Given the description of an element on the screen output the (x, y) to click on. 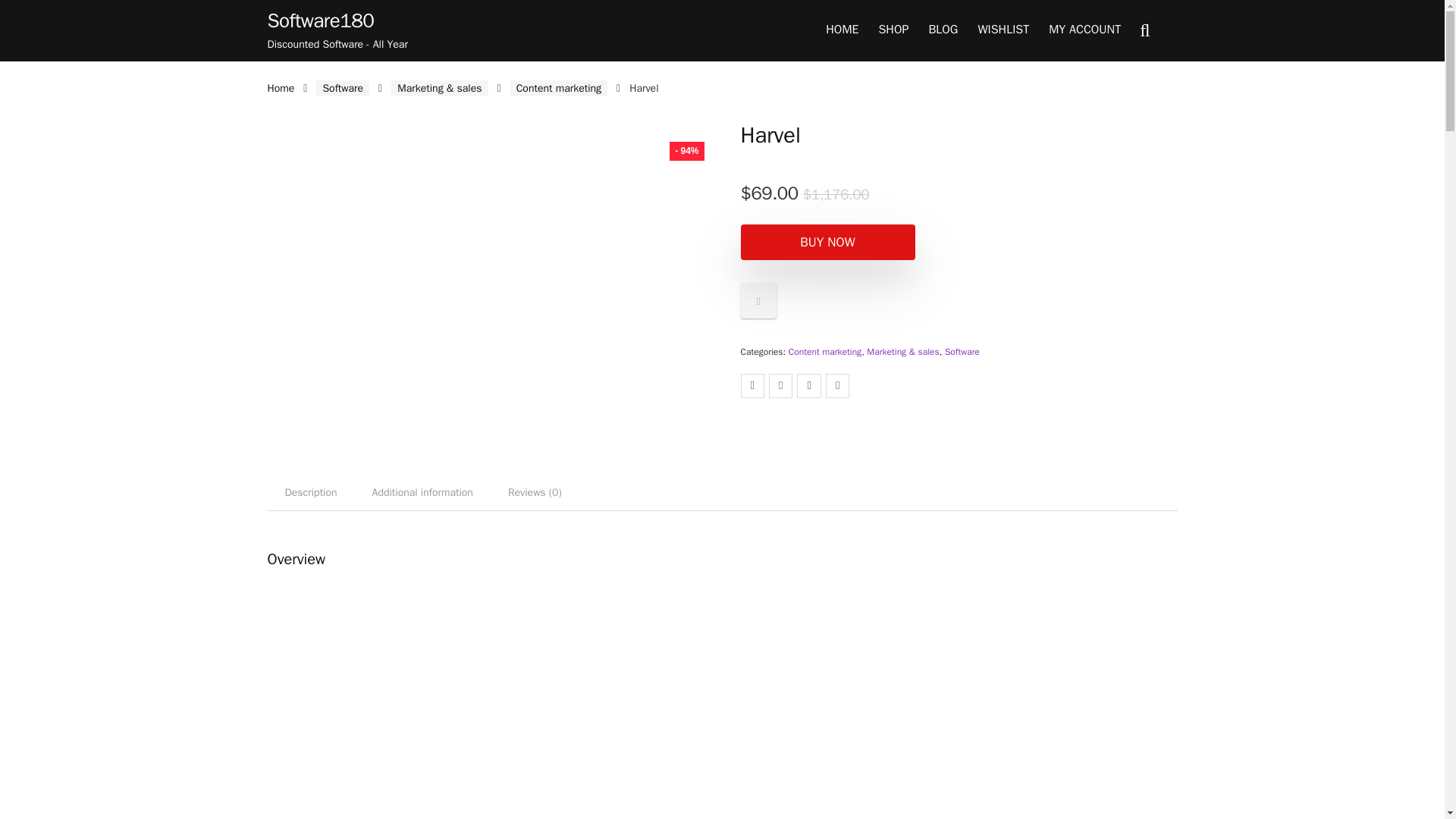
HOME (841, 30)
BLOG (943, 30)
Software (342, 88)
Additional information (422, 493)
Content marketing (559, 88)
WISHLIST (1003, 30)
Software (961, 351)
MY ACCOUNT (1085, 30)
BUY NOW (826, 242)
SHOP (892, 30)
Description (309, 493)
Content marketing (825, 351)
Home (280, 88)
